Given the description of an element on the screen output the (x, y) to click on. 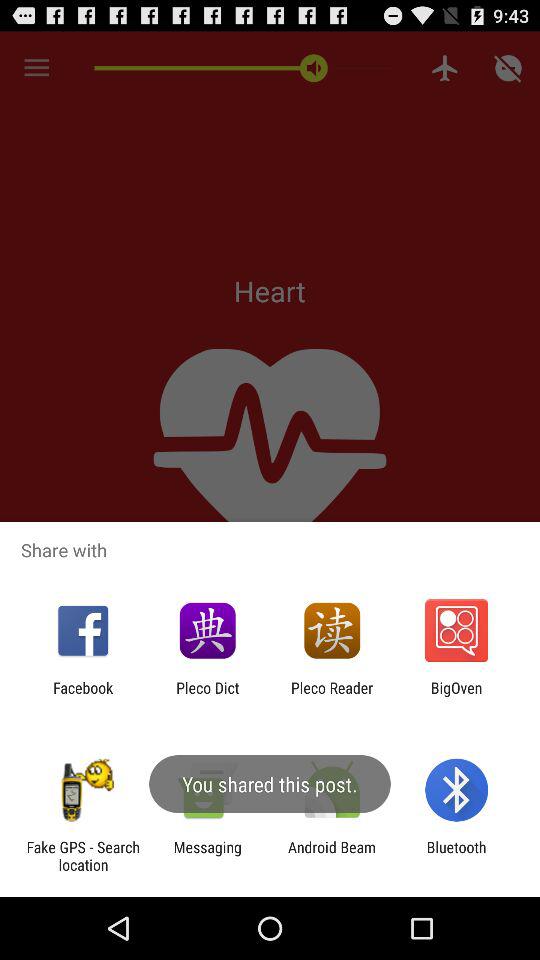
turn on bigoven (456, 696)
